Given the description of an element on the screen output the (x, y) to click on. 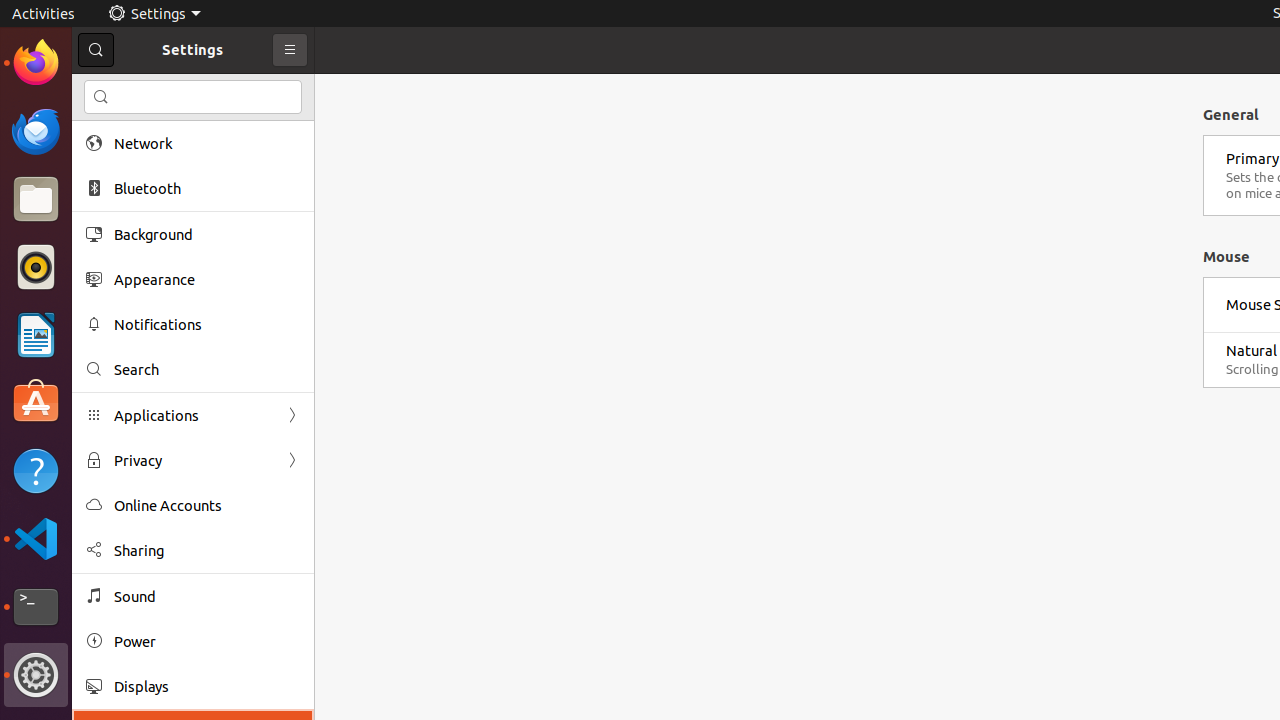
Forward Element type: icon (292, 460)
Trash Element type: label (133, 191)
